Given the description of an element on the screen output the (x, y) to click on. 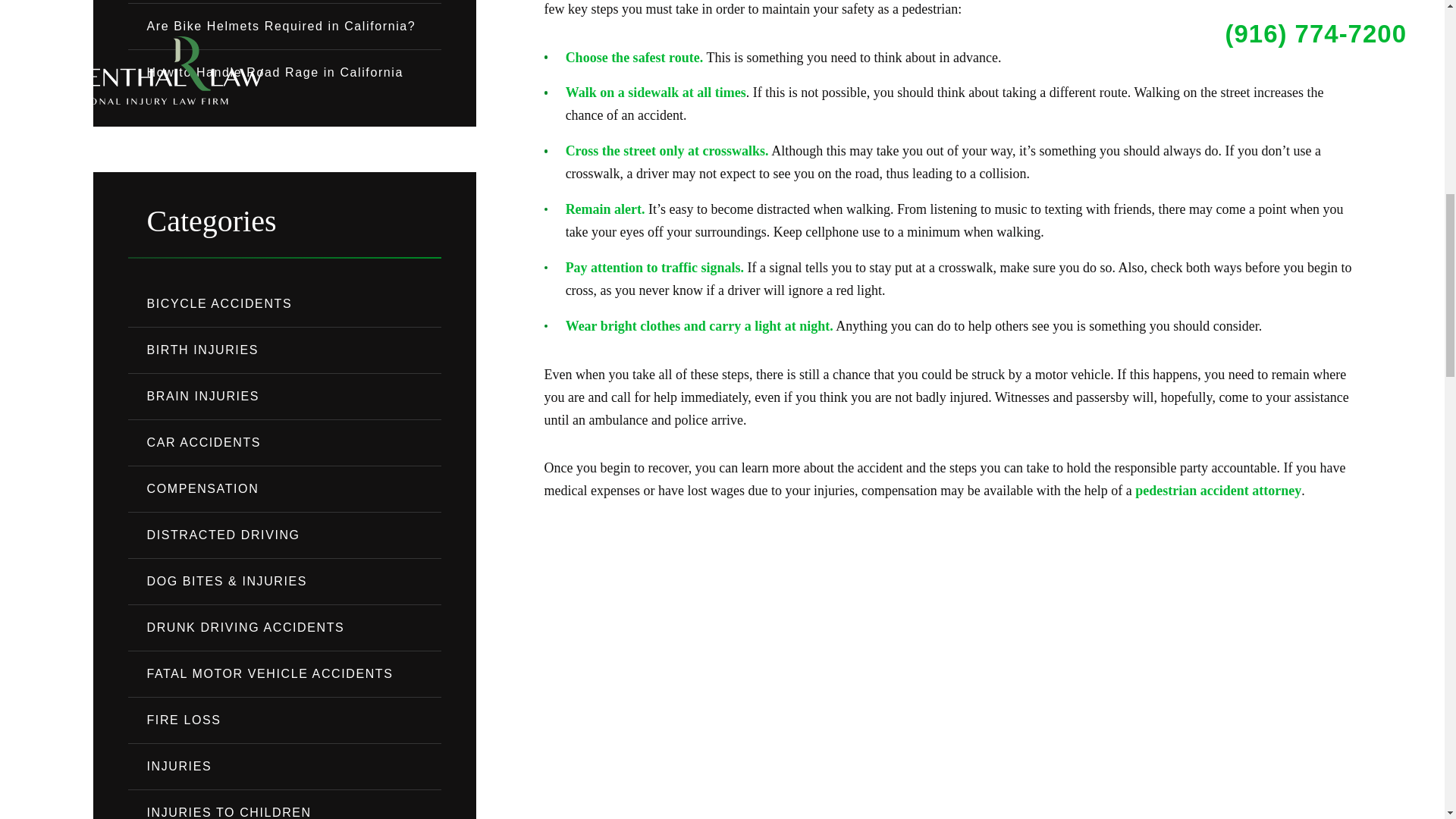
Are Bike Helmets Required in California? (284, 26)
FIRE LOSS (284, 719)
BICYCLE ACCIDENTS (284, 303)
BRAIN INJURIES (284, 396)
DISTRACTED DRIVING (284, 534)
DRUNK DRIVING ACCIDENTS (284, 627)
FATAL MOTOR VEHICLE ACCIDENTS (284, 673)
CAR ACCIDENTS (284, 443)
How to Handle Road Rage in California (284, 72)
